Given the description of an element on the screen output the (x, y) to click on. 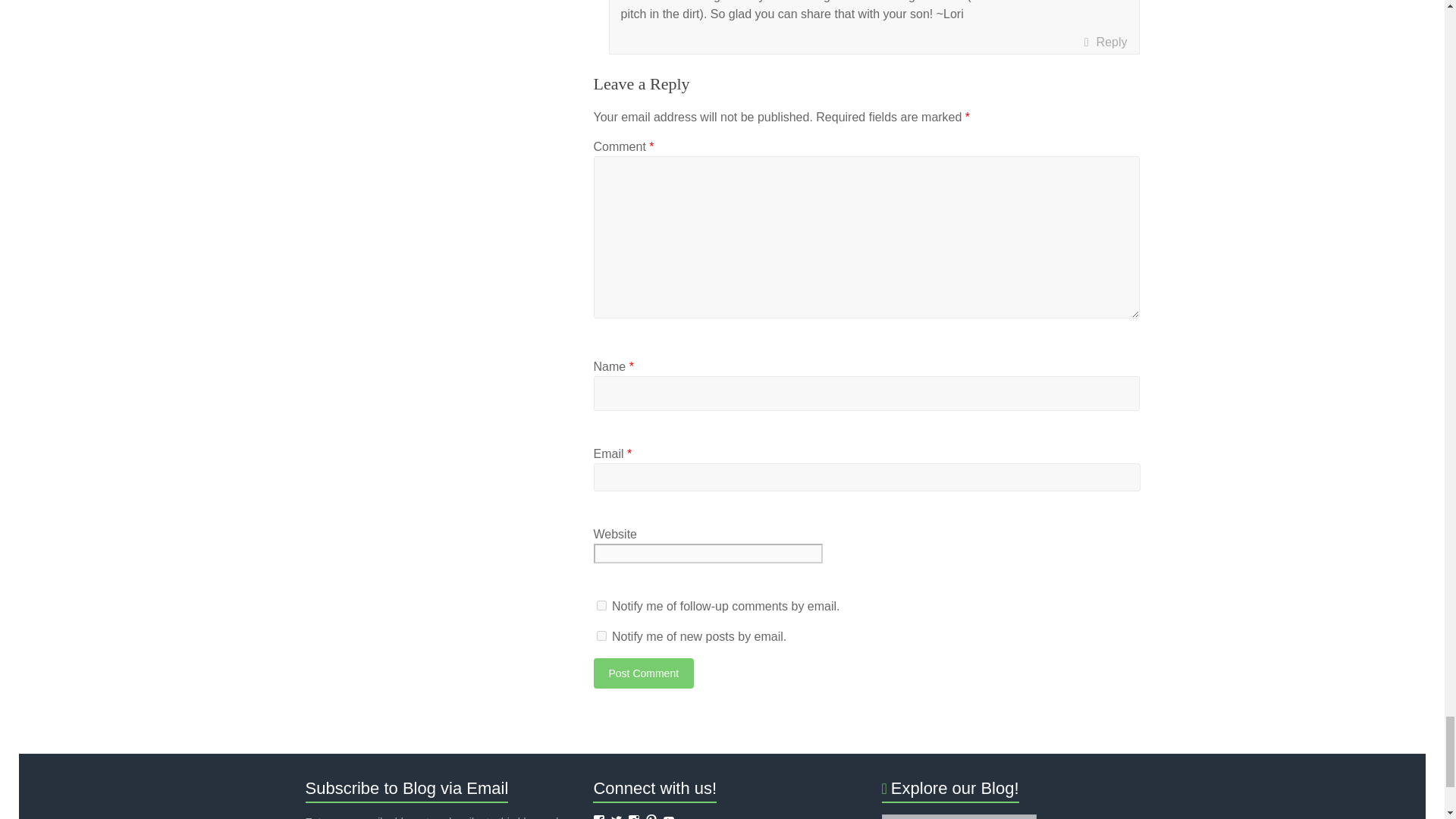
subscribe (600, 635)
Post Comment (643, 673)
subscribe (600, 605)
